Given the description of an element on the screen output the (x, y) to click on. 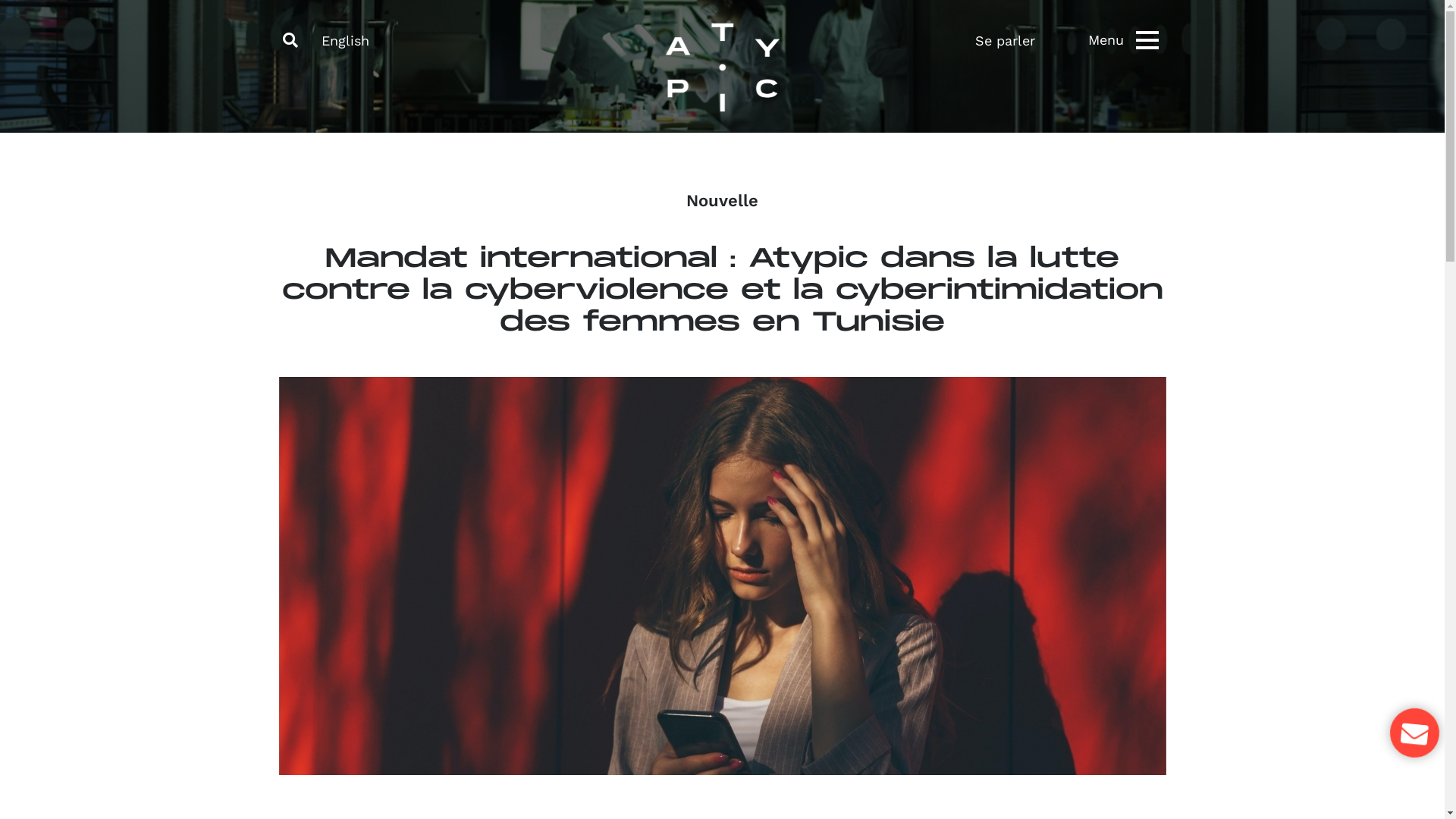
Se parler Element type: text (1021, 39)
English Element type: text (345, 40)
